Given the description of an element on the screen output the (x, y) to click on. 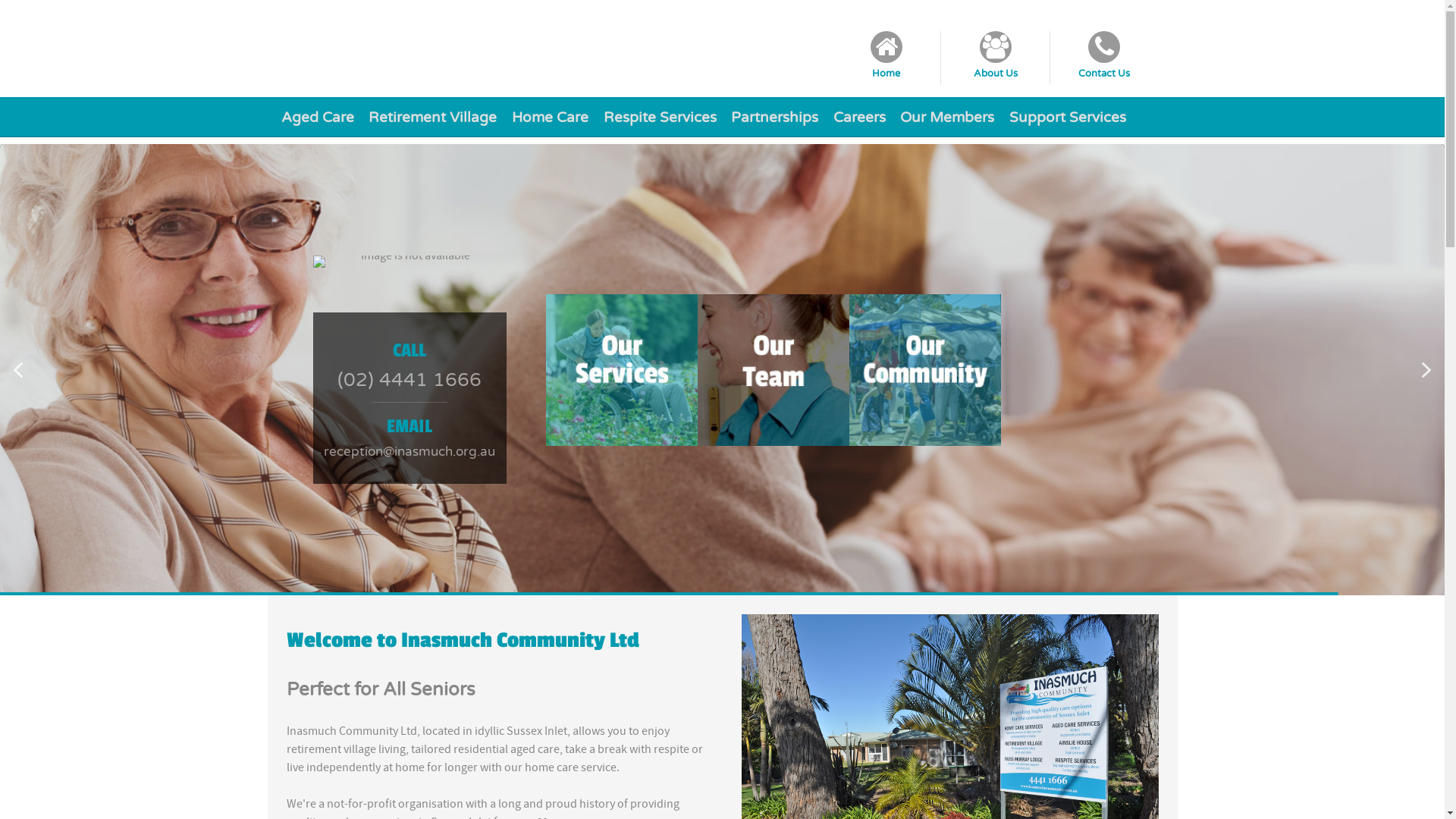
About Us Element type: text (995, 57)
Contact Us Element type: text (1104, 57)
Support Services Element type: text (1067, 116)
Partnerships Element type: text (774, 116)
Retirement Village Element type: text (432, 116)
reception@inasmuch.org.au Element type: text (409, 451)
Home Element type: text (886, 57)
Respite Services Element type: text (659, 116)
(02) 4441 1666 Element type: text (409, 380)
Aged Care Element type: text (317, 116)
Our Members Element type: text (947, 116)
Home Care Element type: text (549, 116)
Careers Element type: text (859, 116)
